Given the description of an element on the screen output the (x, y) to click on. 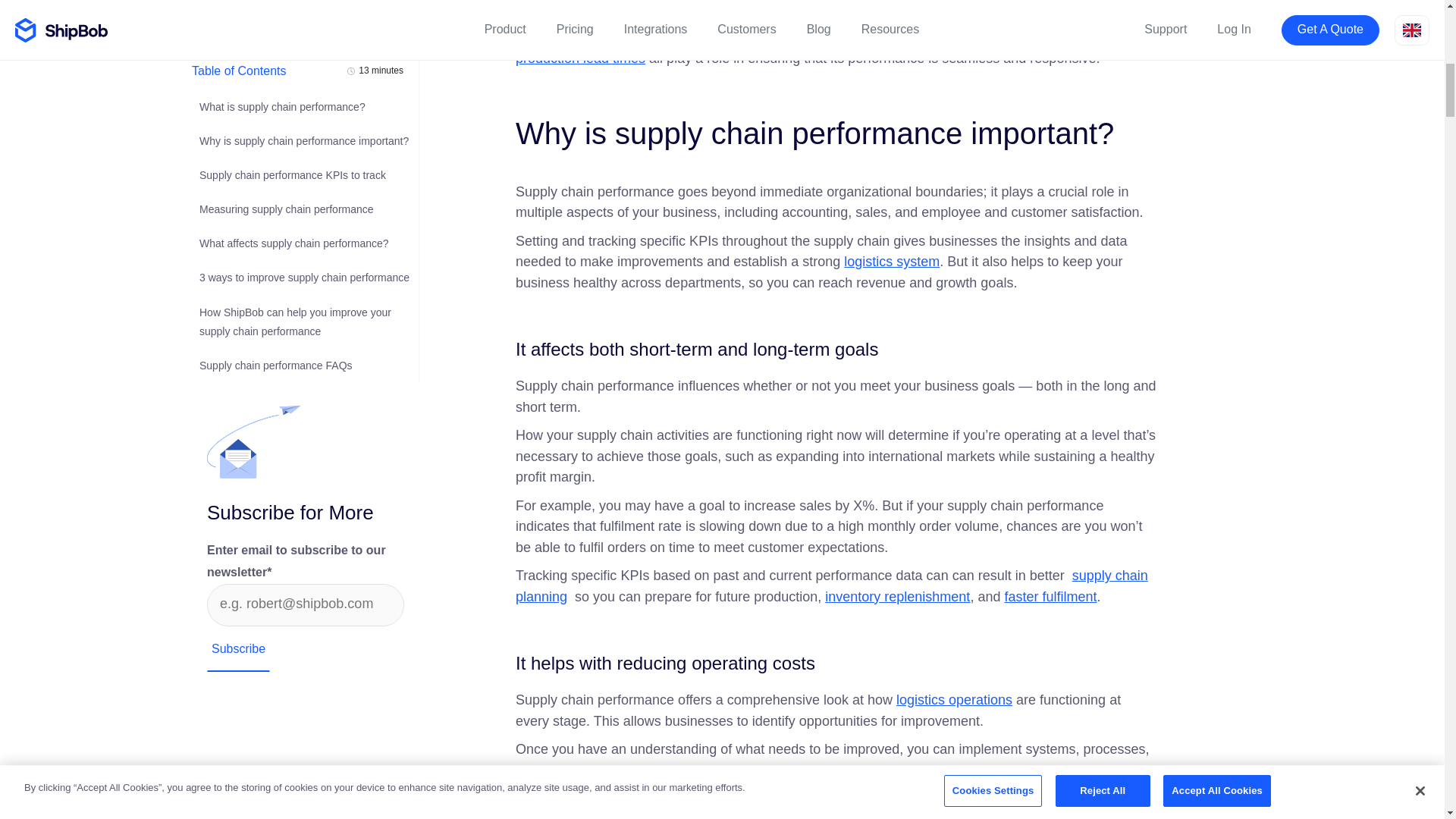
Subscribe  (237, 206)
Subscribe  (237, 206)
order accuracy (1042, 37)
